Given the description of an element on the screen output the (x, y) to click on. 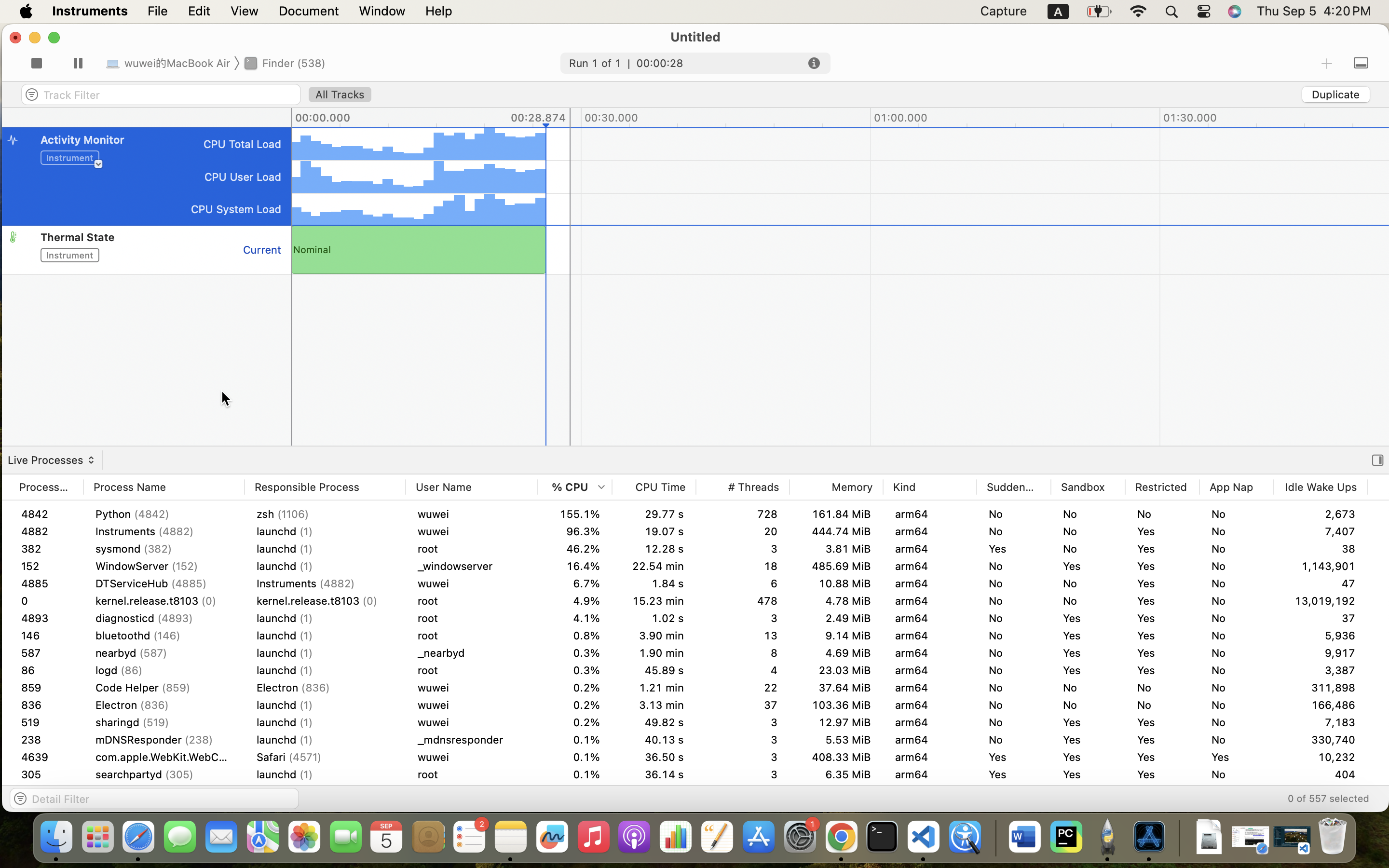
0.5% Element type: AXStaticText (574, 687)
5,883 Element type: AXStaticText (1320, 531)
7.03 s Element type: AXStaticText (653, 548)
0.4% Element type: AXStaticText (574, 704)
4893 Element type: AXStaticText (46, 652)
